Given the description of an element on the screen output the (x, y) to click on. 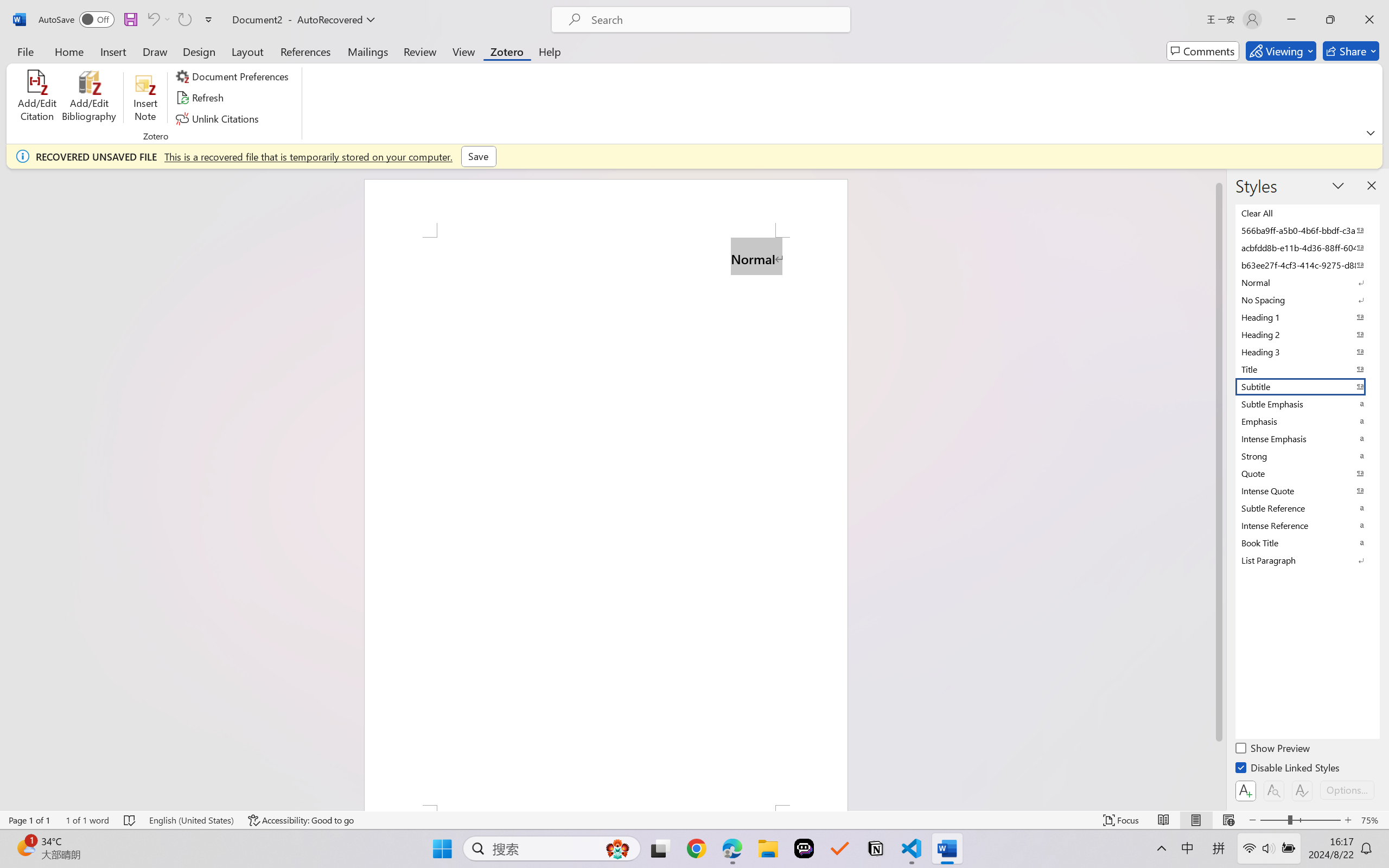
Book Title (1306, 543)
Heading 1 (1306, 317)
Zoom 75% (1372, 819)
Quote (1306, 473)
566ba9ff-a5b0-4b6f-bbdf-c3ab41993fc2 (1306, 230)
b63ee27f-4cf3-414c-9275-d88e3f90795e (1306, 265)
